Given the description of an element on the screen output the (x, y) to click on. 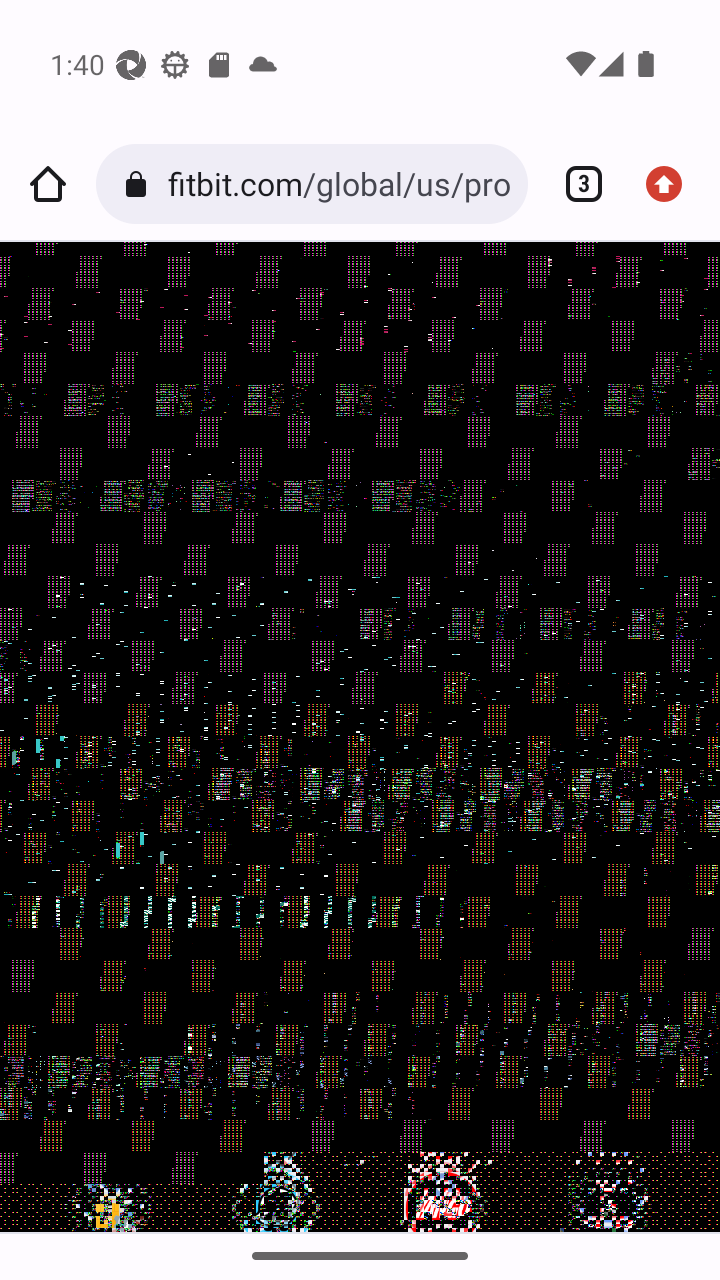
Home (47, 184)
Connection is secure (139, 184)
Switch or close tabs (575, 184)
Update available. More options (672, 184)
fitbit.com/global/us/products/trackers/charge6 (339, 184)
